Given the description of an element on the screen output the (x, y) to click on. 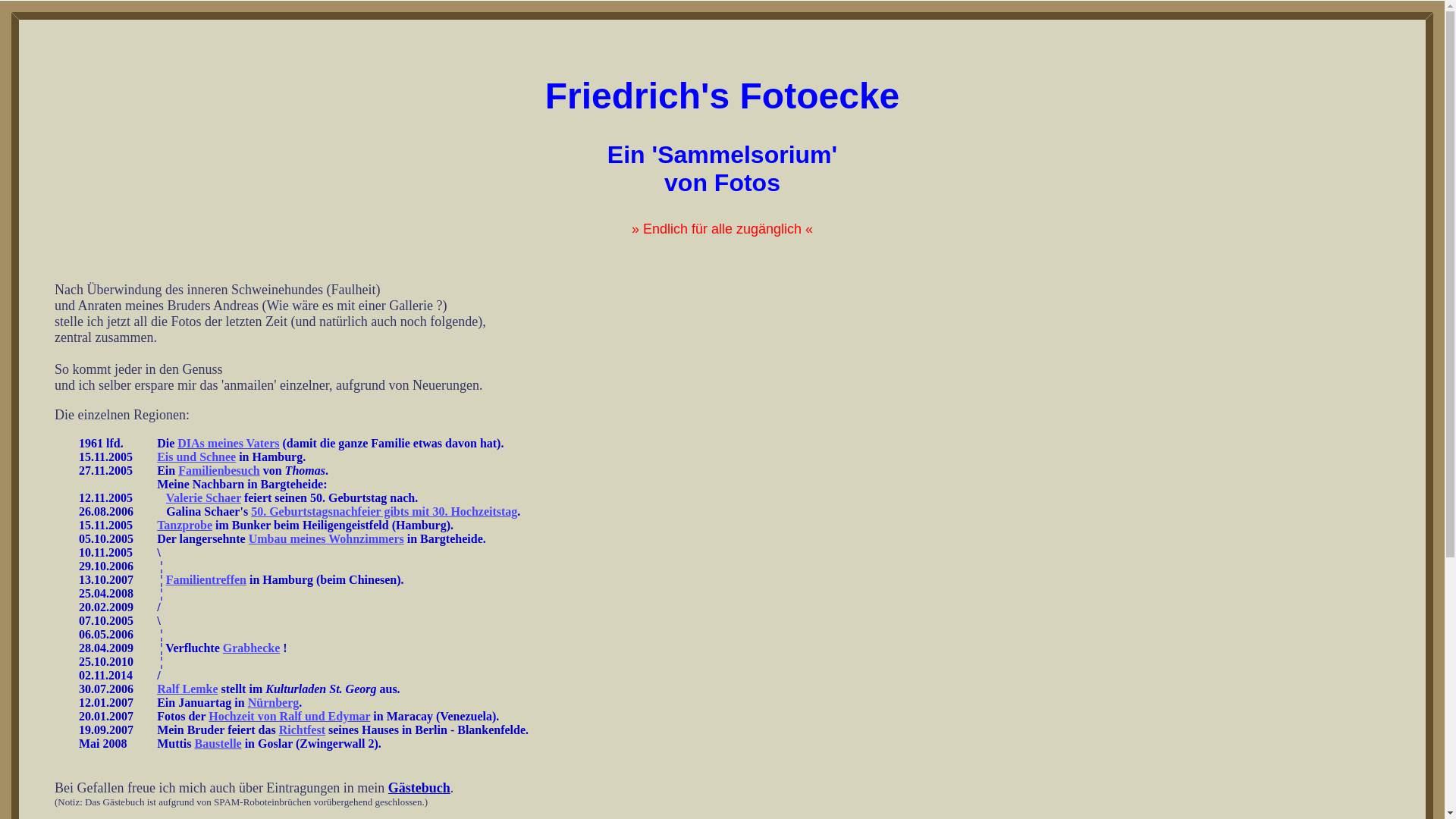
Hochzeit von Ralf und Edymar Element type: text (289, 715)
DIAs meines Vaters Element type: text (228, 442)
50. Geburtstagsnachfeier gibts mit 30. Hochzeitstag Element type: text (384, 511)
Tanzprobe Element type: text (184, 524)
Baustelle Element type: text (217, 743)
Umbau meines Wohnzimmers Element type: text (326, 538)
Grabhecke Element type: text (251, 647)
Familienbesuch Element type: text (219, 470)
Richtfest Element type: text (302, 729)
Valerie Schaer Element type: text (203, 497)
Familientreffen Element type: text (206, 579)
Eis und Schnee Element type: text (195, 456)
Ralf Lemke Element type: text (186, 688)
